Given the description of an element on the screen output the (x, y) to click on. 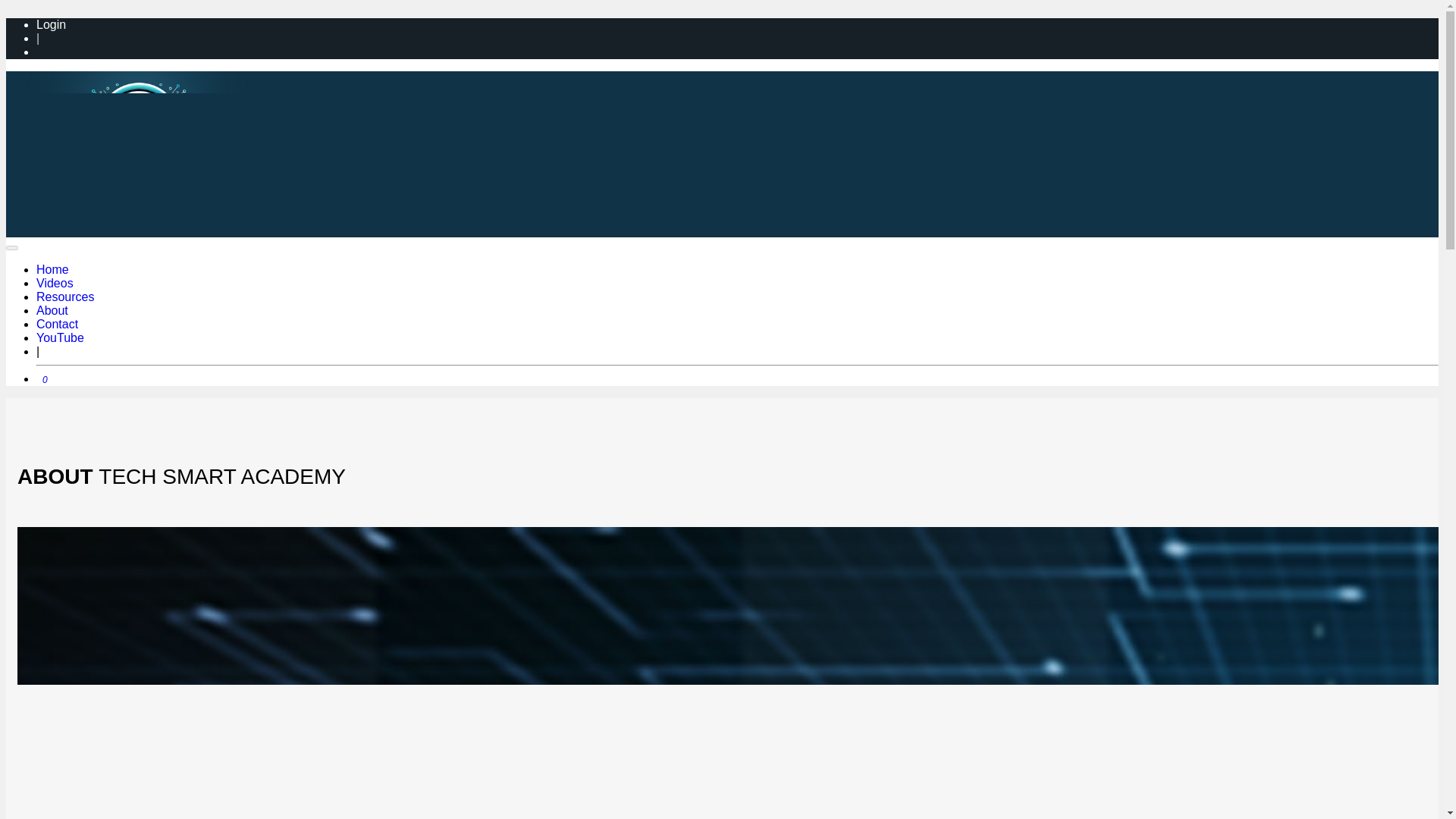
Videos (55, 282)
Home (52, 269)
Login (50, 24)
Resources (65, 296)
YouTube (60, 337)
0 (42, 378)
About (52, 309)
Contact (57, 323)
